Given the description of an element on the screen output the (x, y) to click on. 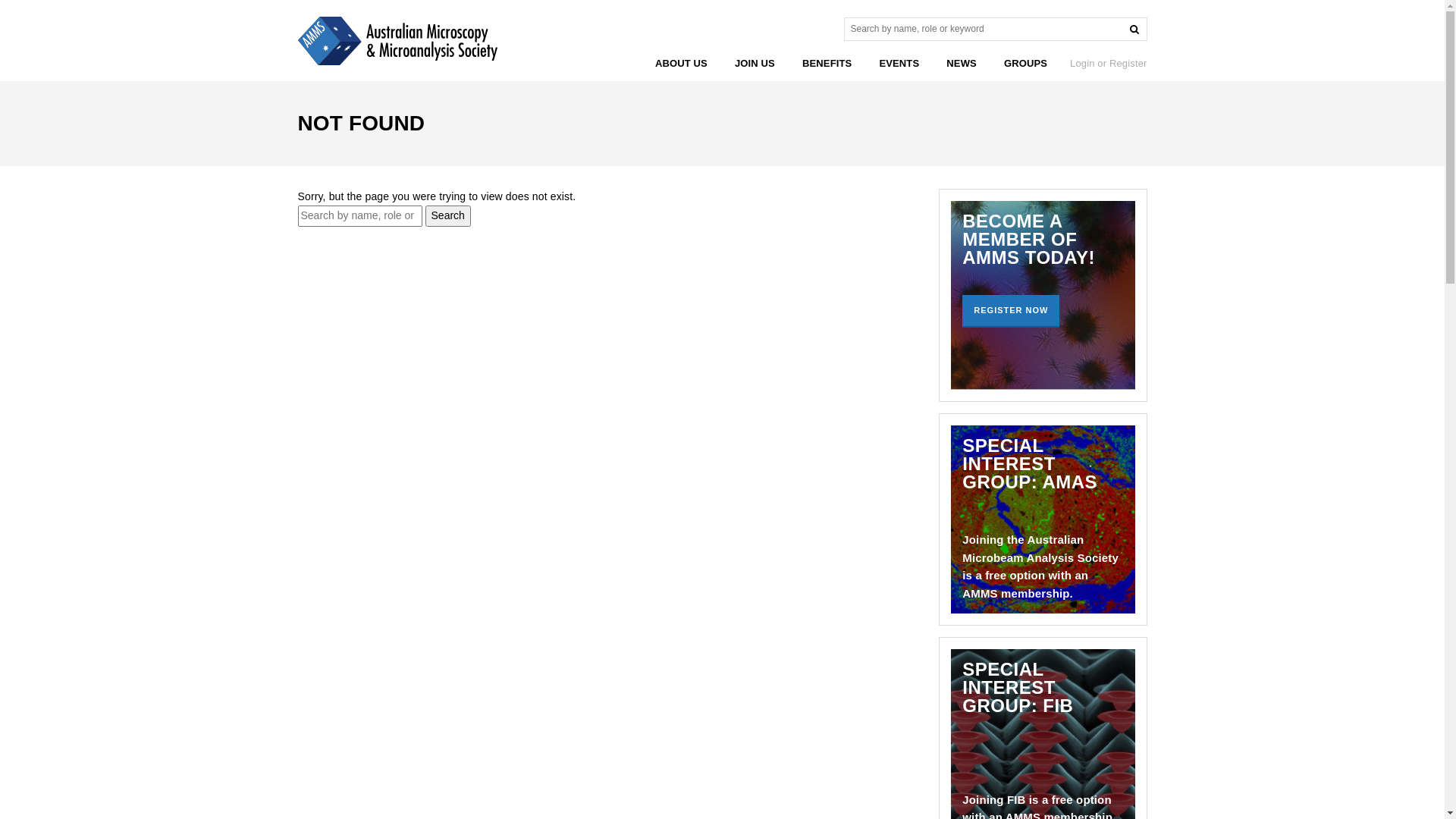
BENEFITS Element type: text (826, 63)
Search Element type: text (447, 215)
REGISTER NOW Element type: text (1010, 310)
EVENTS Element type: text (898, 63)
Search Element type: text (1133, 28)
GROUPS Element type: text (1025, 63)
JOIN US Element type: text (754, 63)
ABOUT US Element type: text (681, 63)
Login or Register Element type: text (1108, 63)
NEWS Element type: text (961, 63)
